Given the description of an element on the screen output the (x, y) to click on. 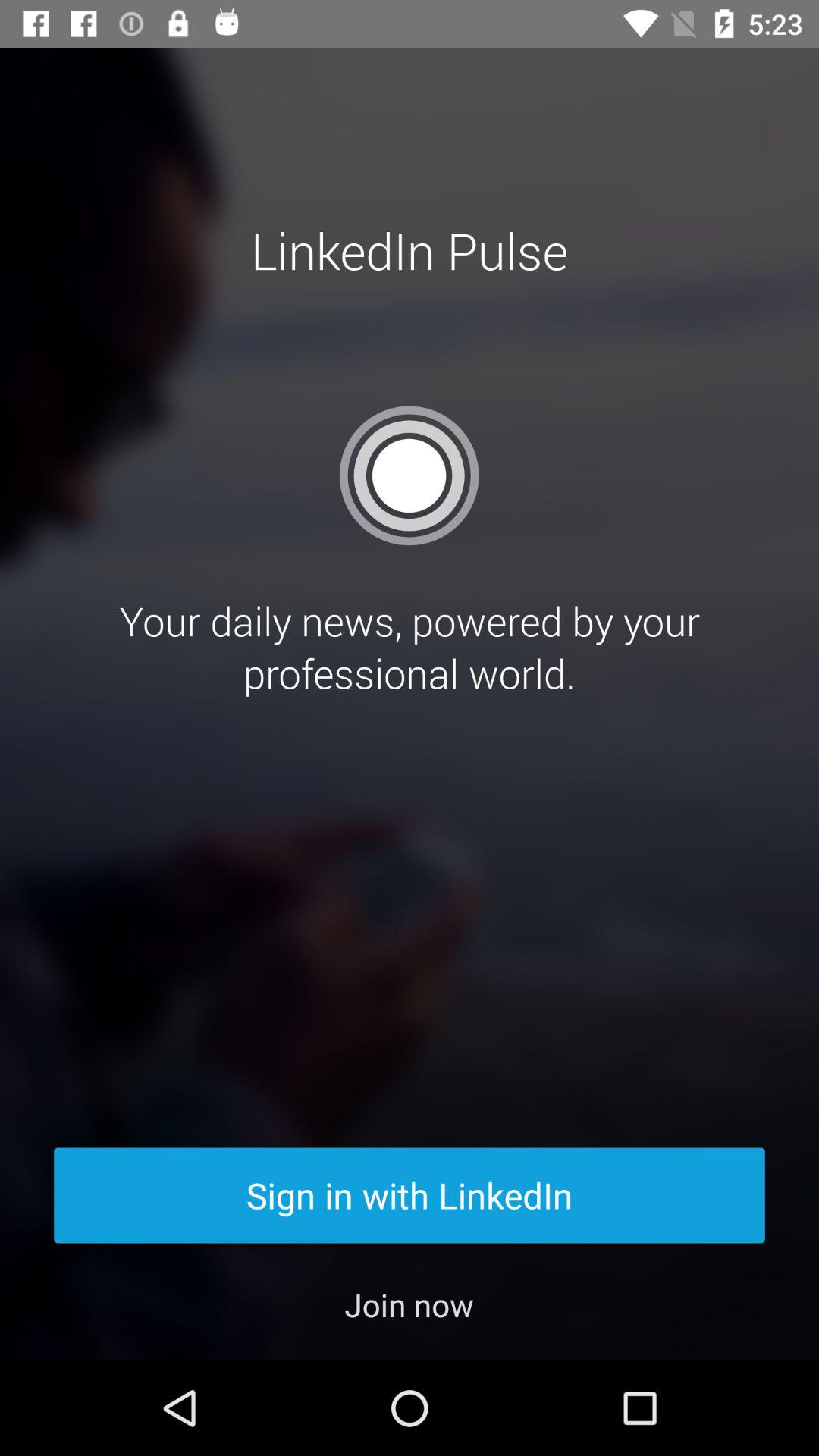
jump until the join now icon (408, 1304)
